Given the description of an element on the screen output the (x, y) to click on. 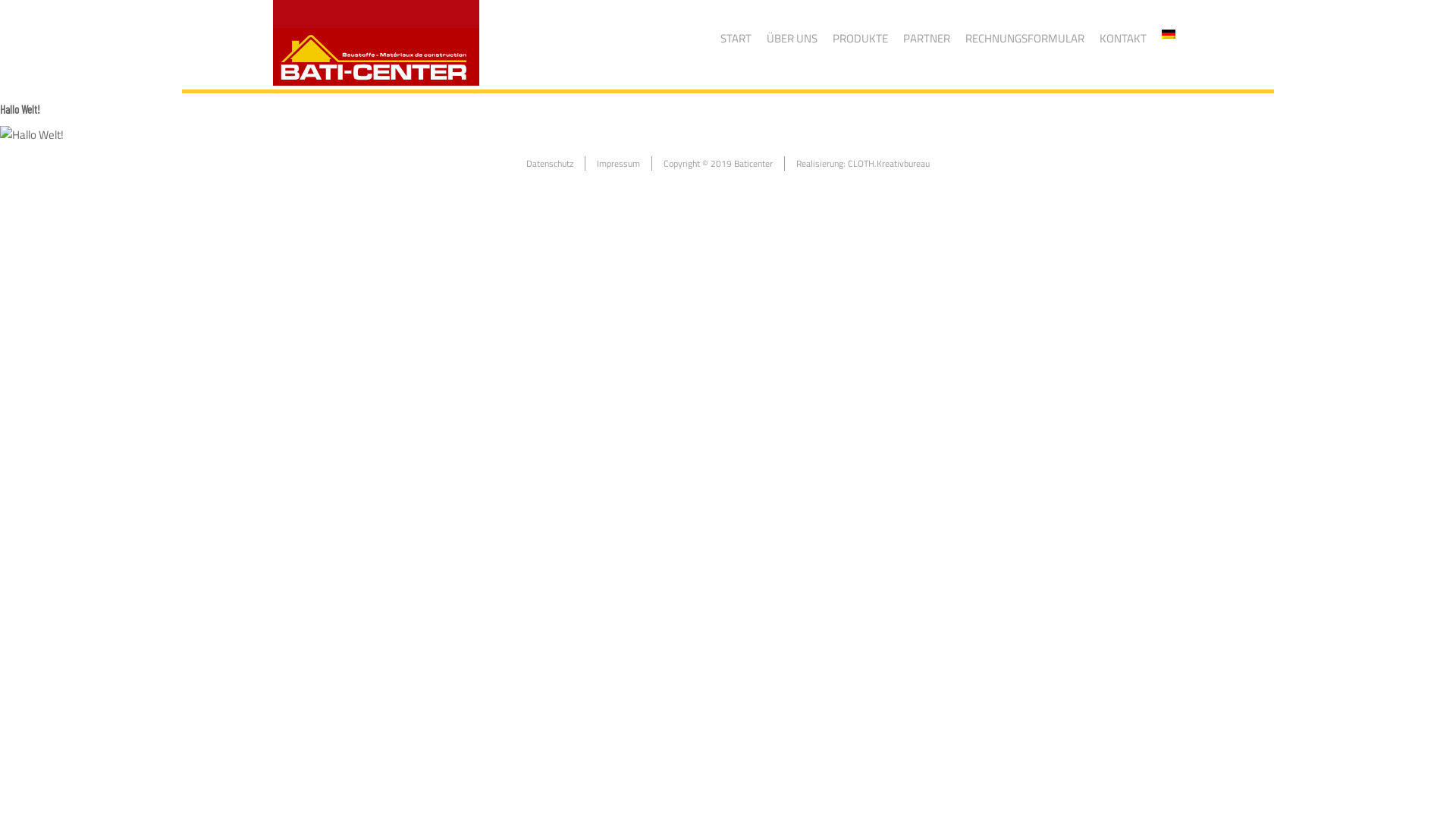
Impressum Element type: text (618, 163)
CLOTH.Kreativbureau Element type: text (888, 163)
START Element type: text (735, 37)
PRODUKTE Element type: text (860, 37)
Datenschutz Element type: text (549, 163)
RECHNUNGSFORMULAR Element type: text (1024, 37)
KONTAKT Element type: text (1122, 37)
PARTNER Element type: text (926, 37)
